Given the description of an element on the screen output the (x, y) to click on. 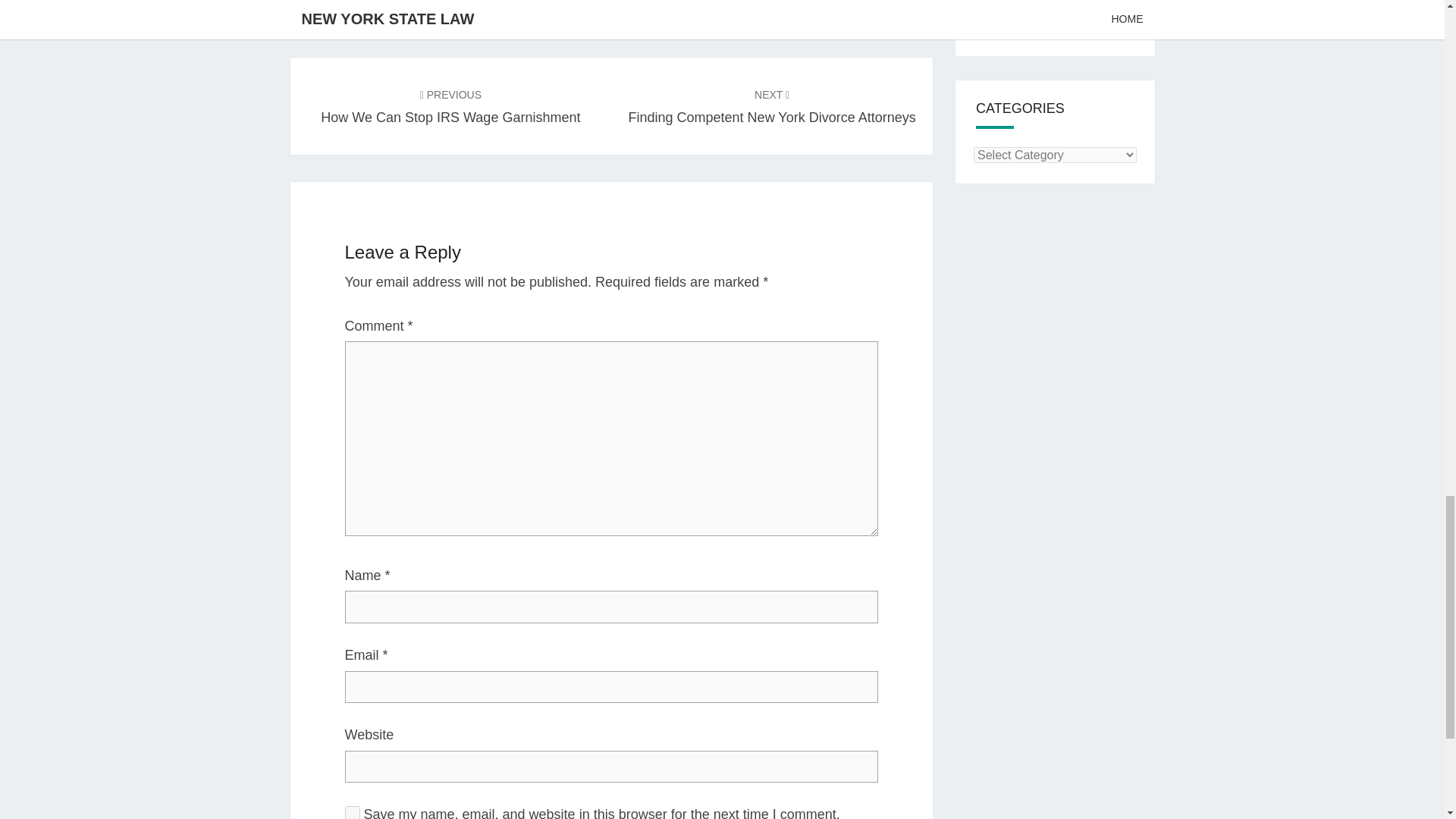
yes (771, 105)
